Given the description of an element on the screen output the (x, y) to click on. 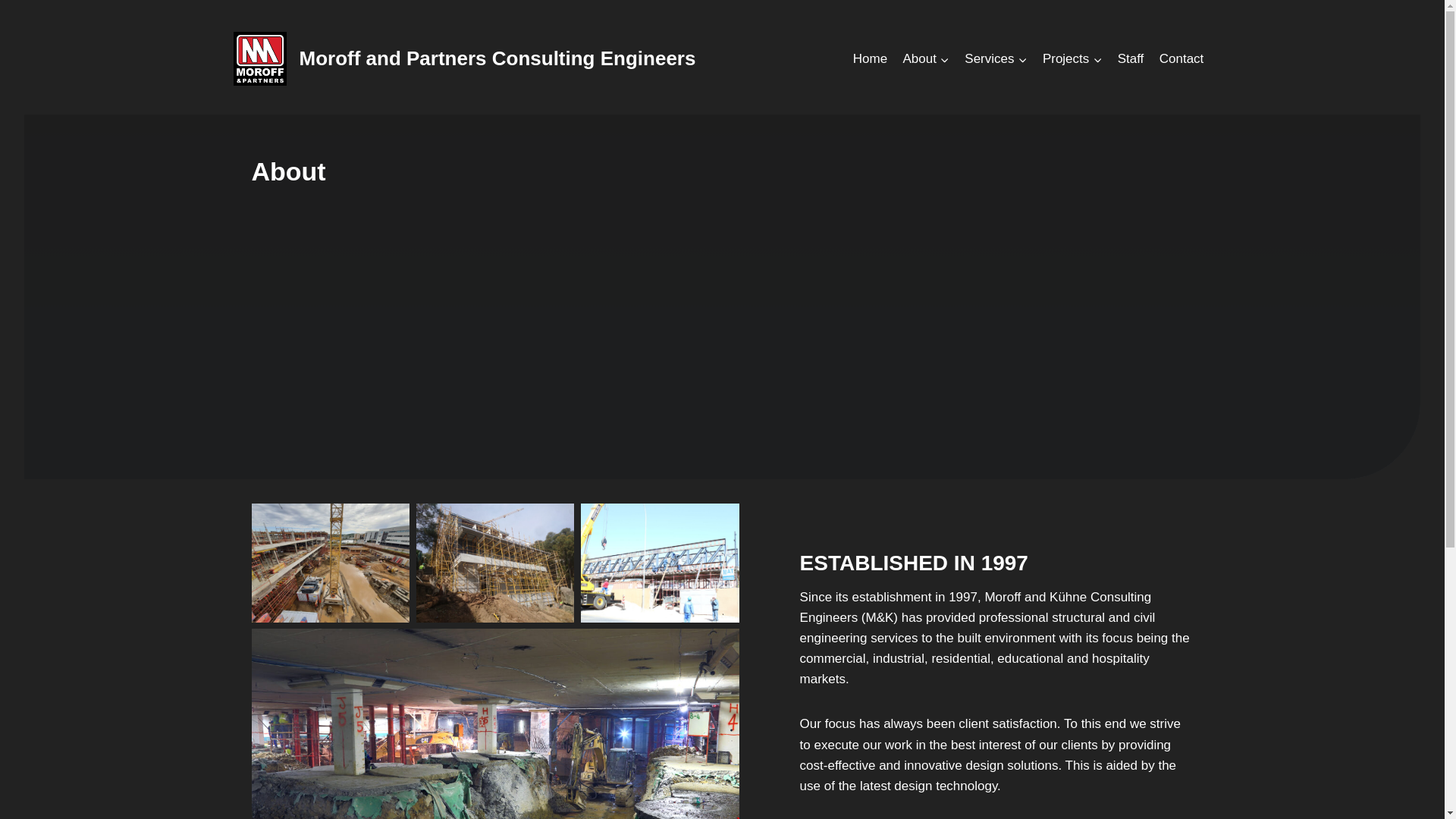
Contact (1181, 58)
Staff (1130, 58)
Home (870, 58)
Services (995, 58)
Projects (1072, 58)
Moroff and Partners Consulting Engineers (463, 58)
About (925, 58)
